Given the description of an element on the screen output the (x, y) to click on. 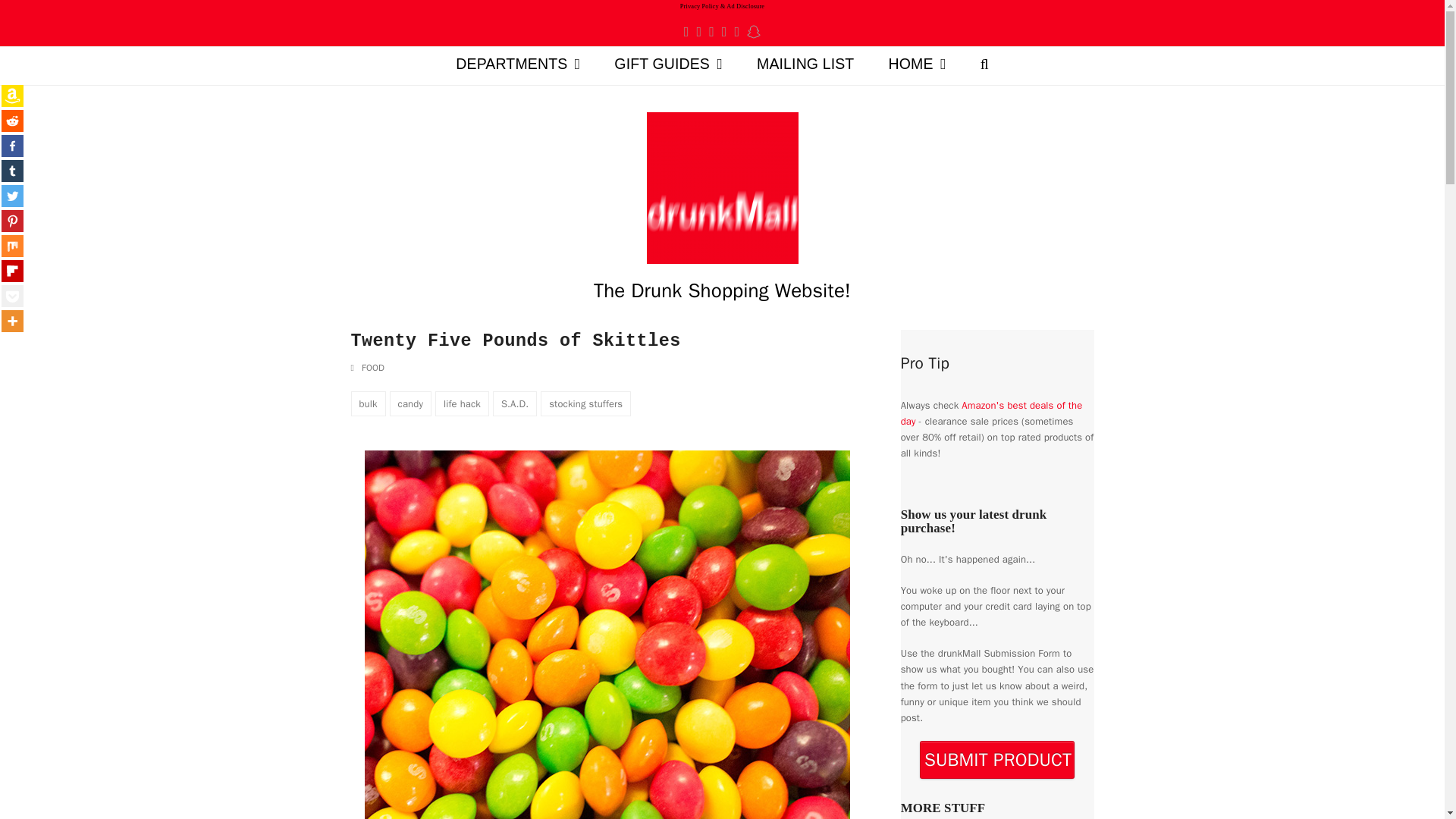
GIFT GUIDES (668, 65)
MAILING LIST (805, 65)
HOME (916, 65)
DEPARTMENTS (518, 65)
